Given the description of an element on the screen output the (x, y) to click on. 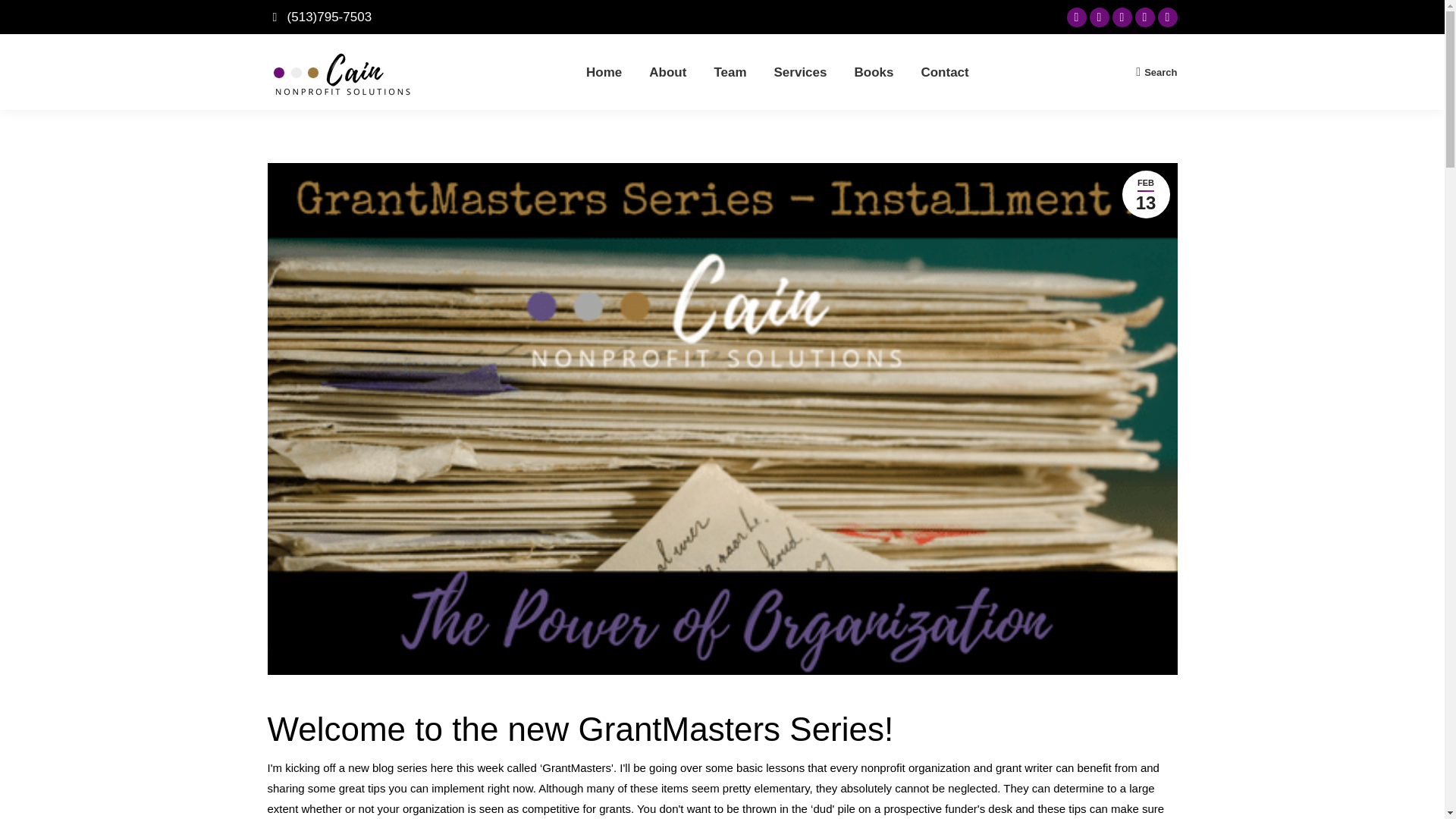
Facebook page opens in new window (1075, 17)
Instagram page opens in new window (1121, 17)
About (667, 71)
Facebook page opens in new window (1075, 17)
Pinterest page opens in new window (1166, 17)
Instagram page opens in new window (1121, 17)
X page opens in new window (1098, 17)
Go! (24, 16)
X page opens in new window (1098, 17)
Books (873, 71)
